Given the description of an element on the screen output the (x, y) to click on. 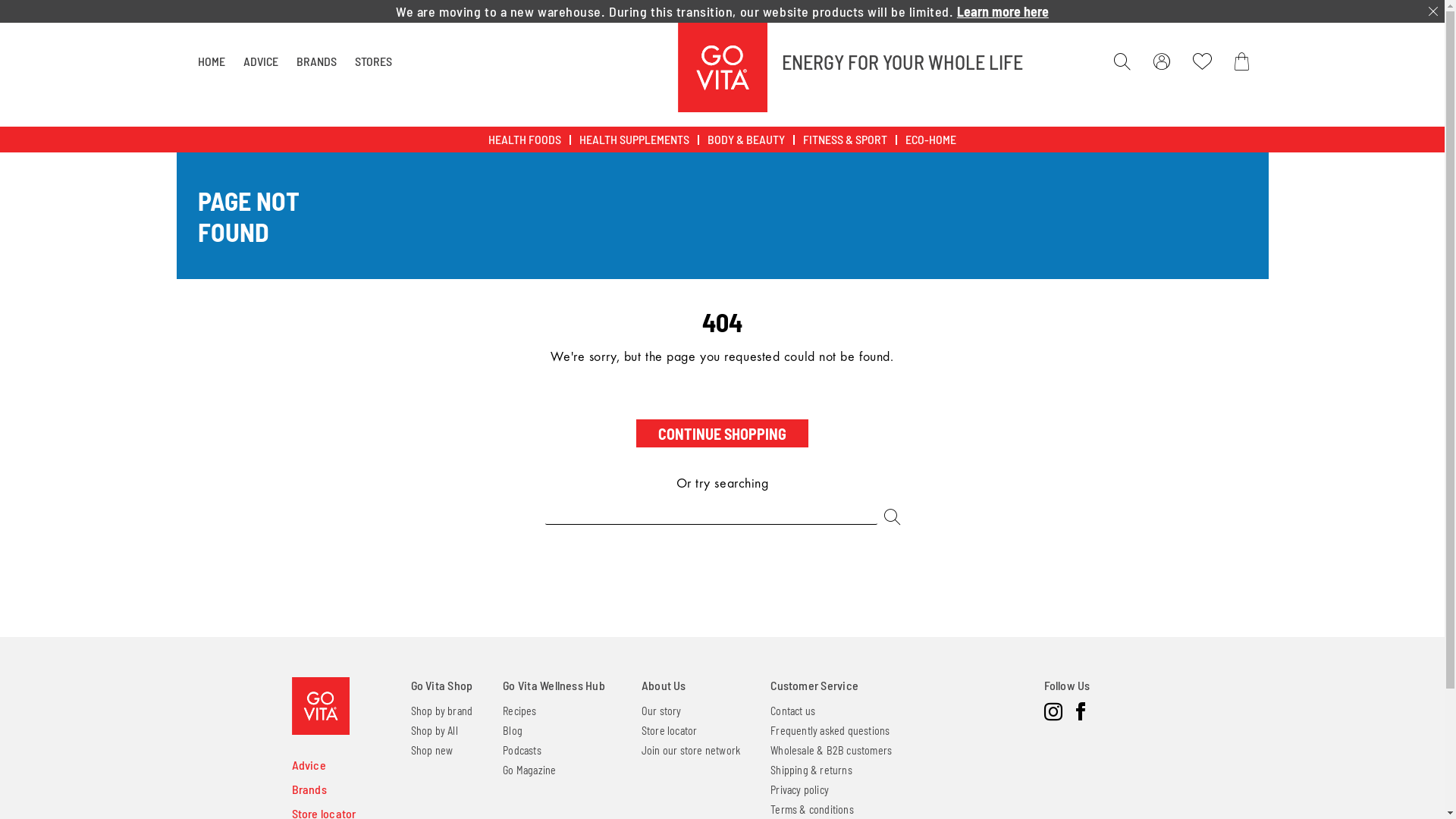
ECO-HOME Element type: text (930, 139)
Advice Element type: text (308, 764)
STORES Element type: text (373, 61)
HEALTH FOODS Element type: text (524, 139)
Frequently asked questions Element type: text (829, 730)
Shop new Element type: text (432, 749)
Shop by All Element type: text (434, 730)
Blog Element type: text (512, 730)
Brands Element type: text (308, 788)
BRANDS Element type: text (315, 61)
Learn more here Element type: text (1002, 11)
Our story Element type: text (661, 710)
Instagram Element type: text (1052, 711)
Bag Element type: text (1245, 60)
FITNESS & SPORT Element type: text (844, 139)
Visit home page of Go Vita Element type: hover (319, 705)
Wholesale & B2B customers Element type: text (830, 749)
CONTINUE SHOPPING Element type: text (722, 433)
Go Magazine Element type: text (528, 769)
ADVICE Element type: text (259, 61)
BODY & BEAUTY Element type: text (745, 139)
Contact us Element type: text (792, 710)
Store locator Element type: text (669, 730)
Recipes Element type: text (519, 710)
Terms & conditions Element type: text (811, 809)
HOME Element type: text (210, 61)
Go Vita Element type: text (722, 67)
Join our store network Element type: text (690, 749)
Facebook Element type: text (1079, 711)
Shipping & returns Element type: text (811, 769)
Podcasts Element type: text (521, 749)
Privacy policy Element type: text (799, 789)
Shop by brand Element type: text (442, 710)
HEALTH SUPPLEMENTS Element type: text (634, 139)
